Given the description of an element on the screen output the (x, y) to click on. 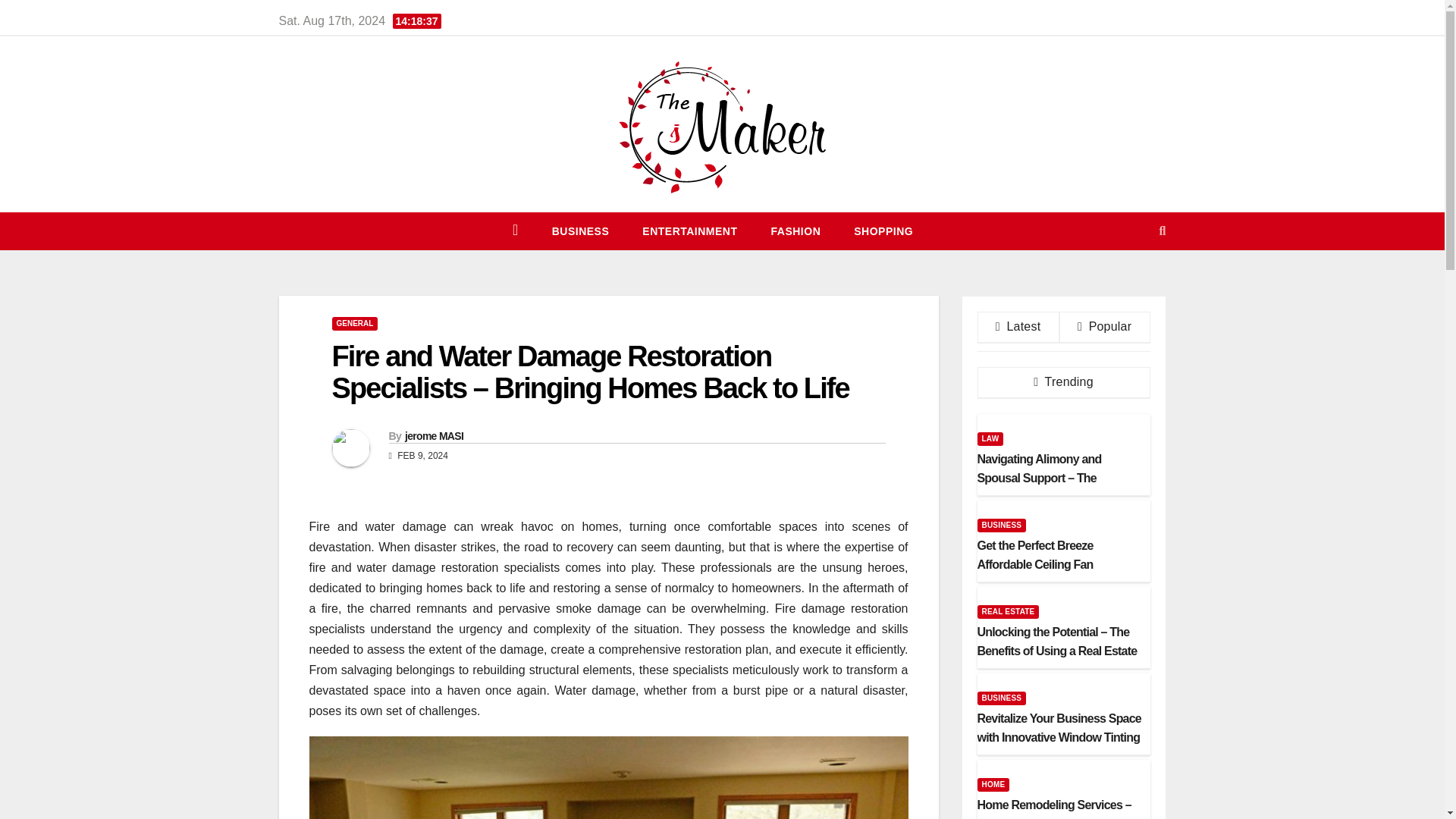
LAW (989, 438)
Get the Perfect Breeze Affordable Ceiling Fan Installation (1063, 564)
FASHION (796, 231)
Entertainment (690, 231)
jerome MASI (433, 435)
BUSINESS (1001, 698)
SHOPPING (883, 231)
BUSINESS (1001, 525)
Fashion (796, 231)
